Given the description of an element on the screen output the (x, y) to click on. 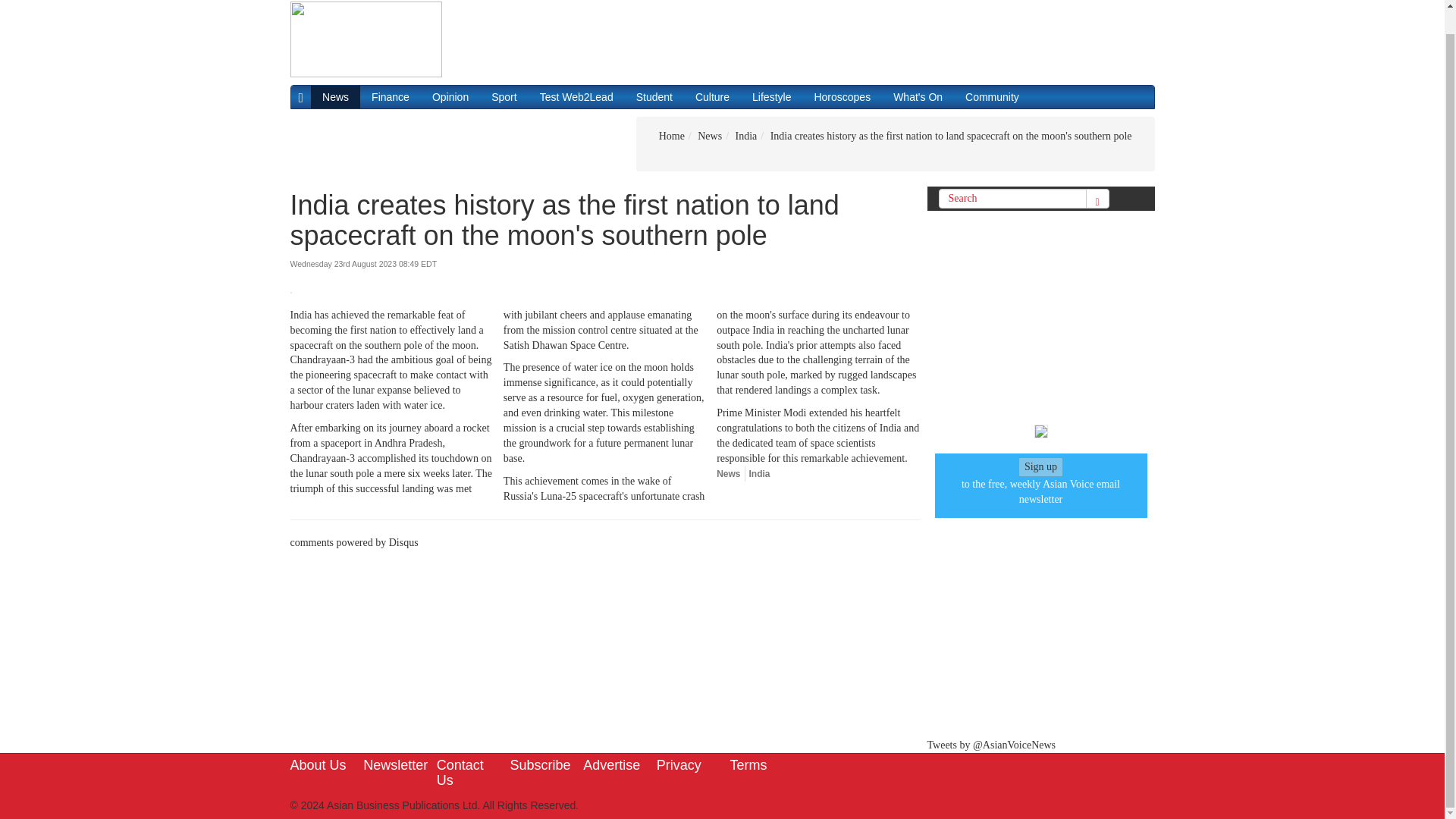
comments powered by Disqus (353, 542)
India (759, 473)
Subscribe (539, 765)
Sport (503, 96)
Advertise (611, 765)
Horoscopes (842, 96)
Newsletter (395, 765)
Sign up (1039, 466)
Finance (389, 96)
News (709, 135)
